Given the description of an element on the screen output the (x, y) to click on. 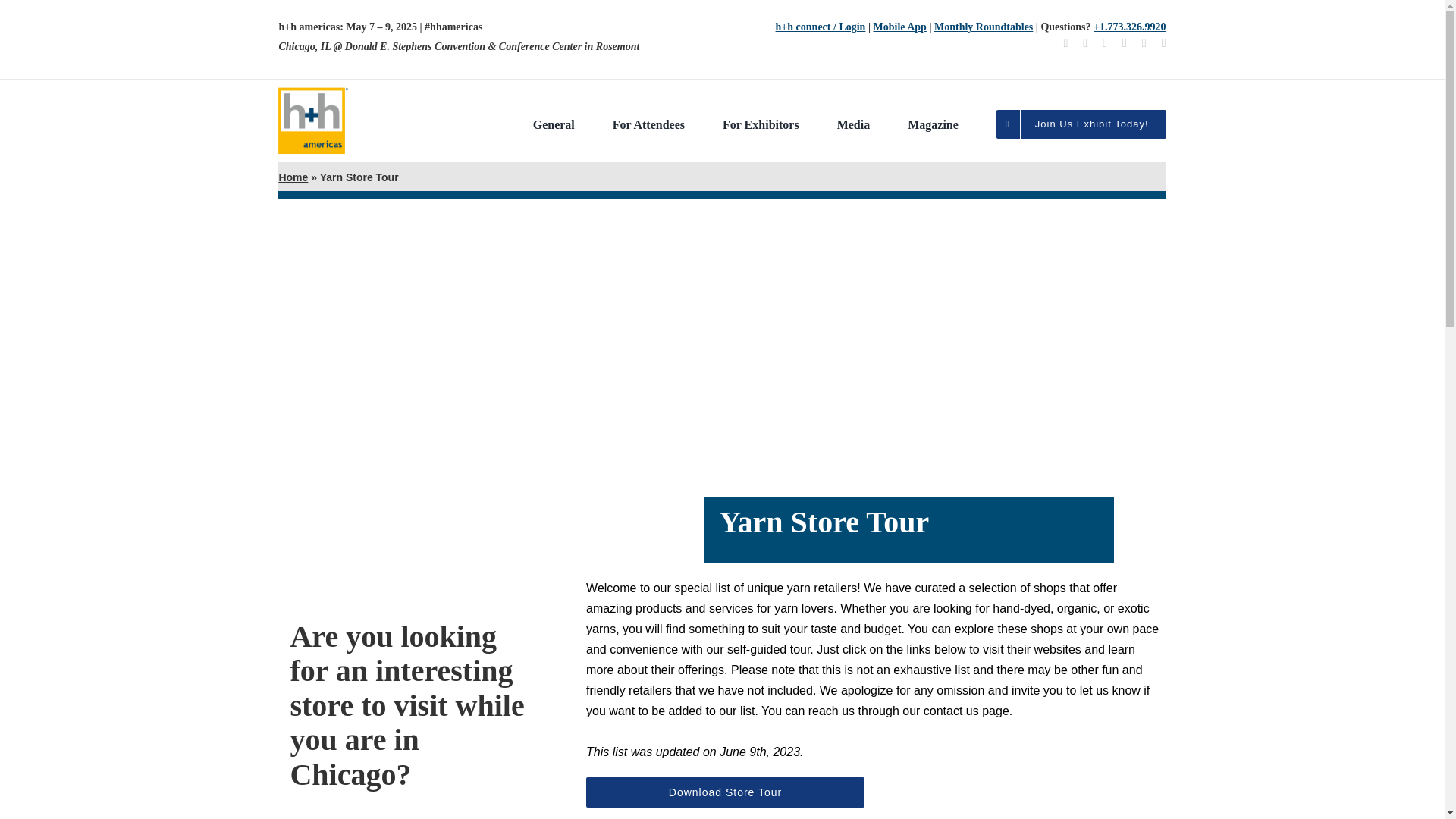
Mobile App (899, 26)
For Attendees (648, 123)
Monthly Roundtables (983, 26)
